Given the description of an element on the screen output the (x, y) to click on. 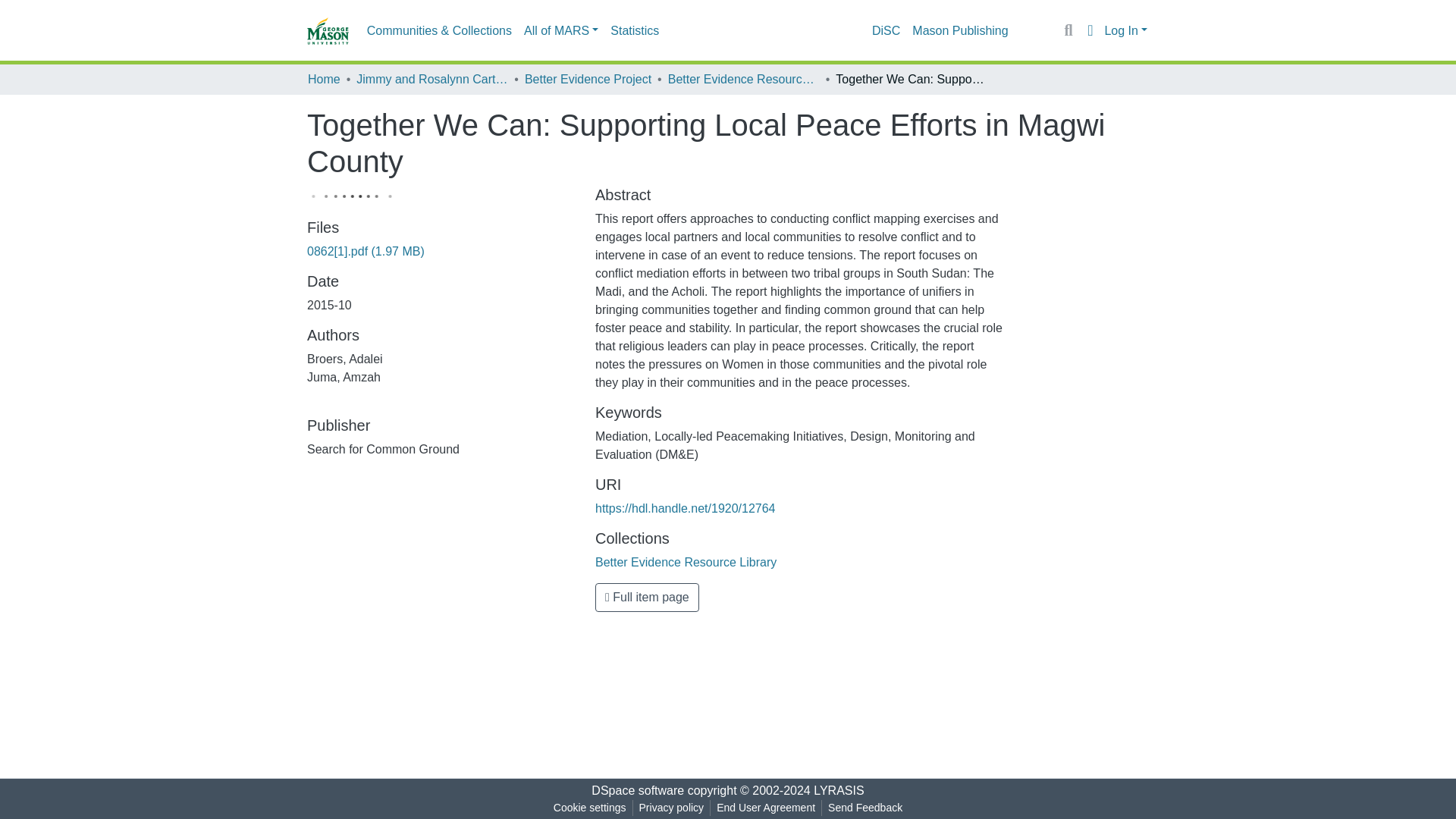
Better Evidence Resource Library (685, 562)
Language switch (1089, 30)
Better Evidence Project (587, 79)
Privacy policy (671, 807)
Home (323, 79)
Log In (1125, 30)
End User Agreement (765, 807)
DiSC (885, 30)
DSpace software (637, 789)
Send Feedback (865, 807)
Statistics (634, 30)
Better Evidence Resource Library (743, 79)
Cookie settings (589, 807)
Search (1067, 30)
